Given the description of an element on the screen output the (x, y) to click on. 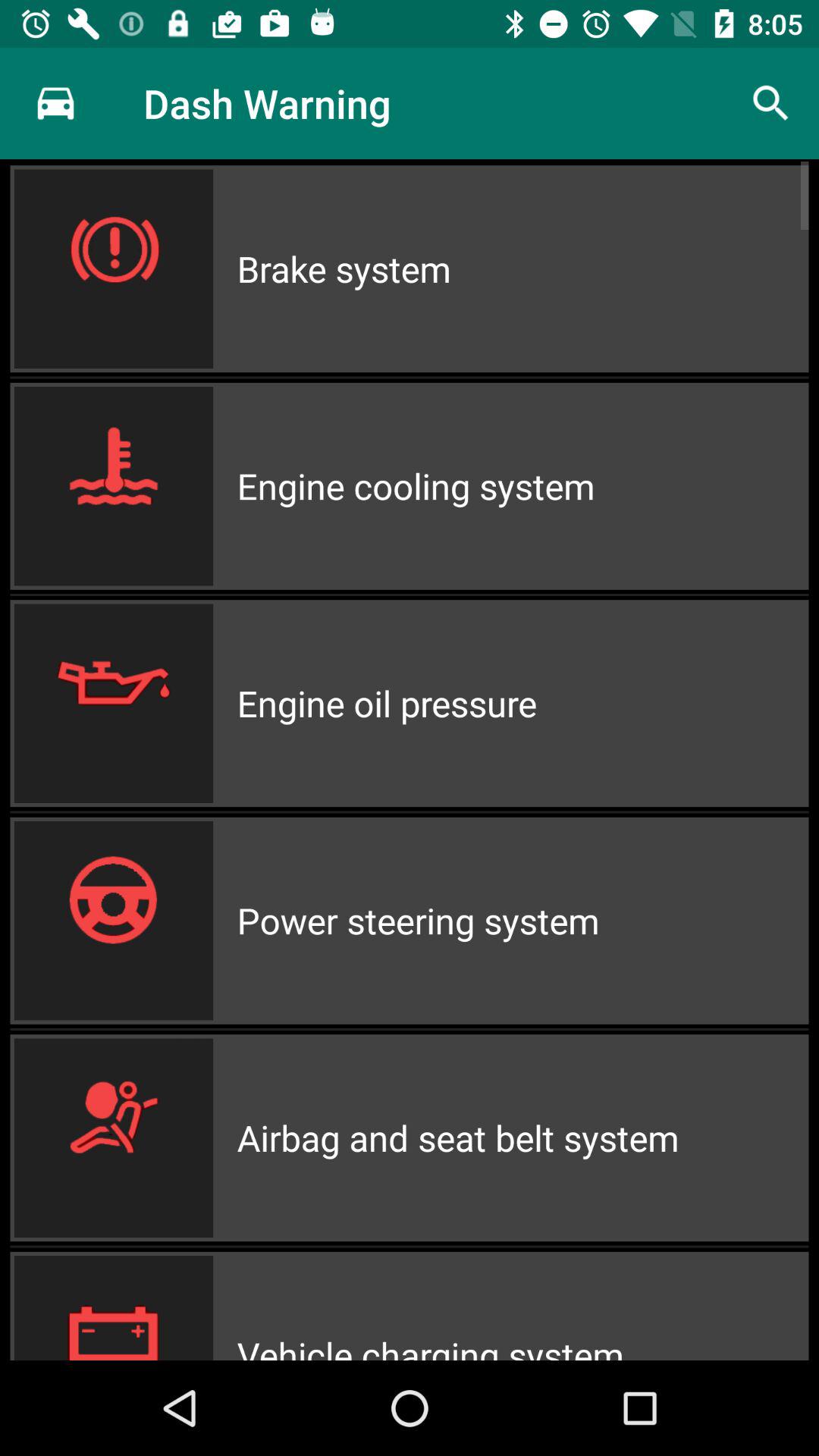
select the icon to the right of the dash warning icon (771, 103)
